Given the description of an element on the screen output the (x, y) to click on. 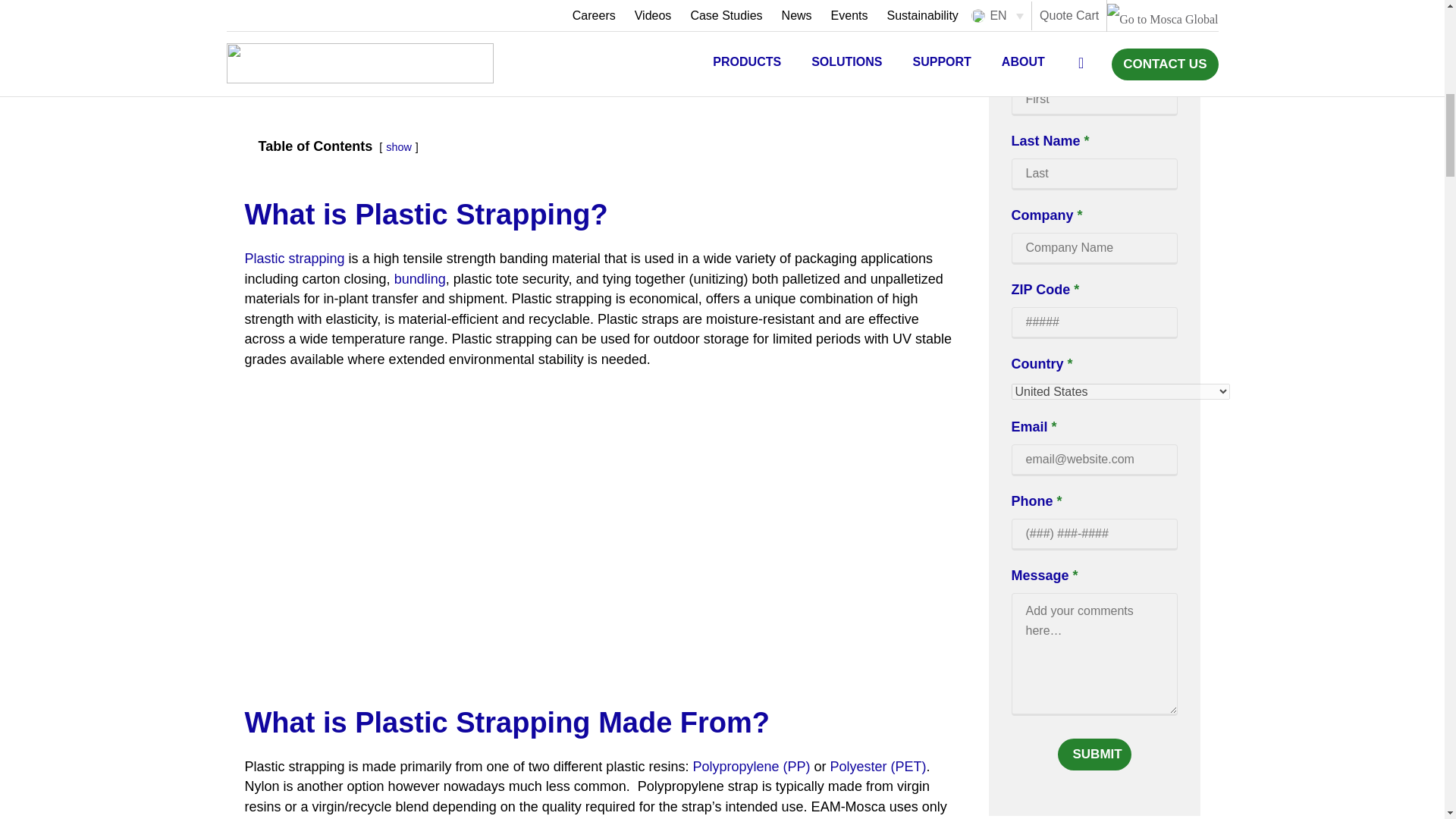
Submit (1094, 754)
